Given the description of an element on the screen output the (x, y) to click on. 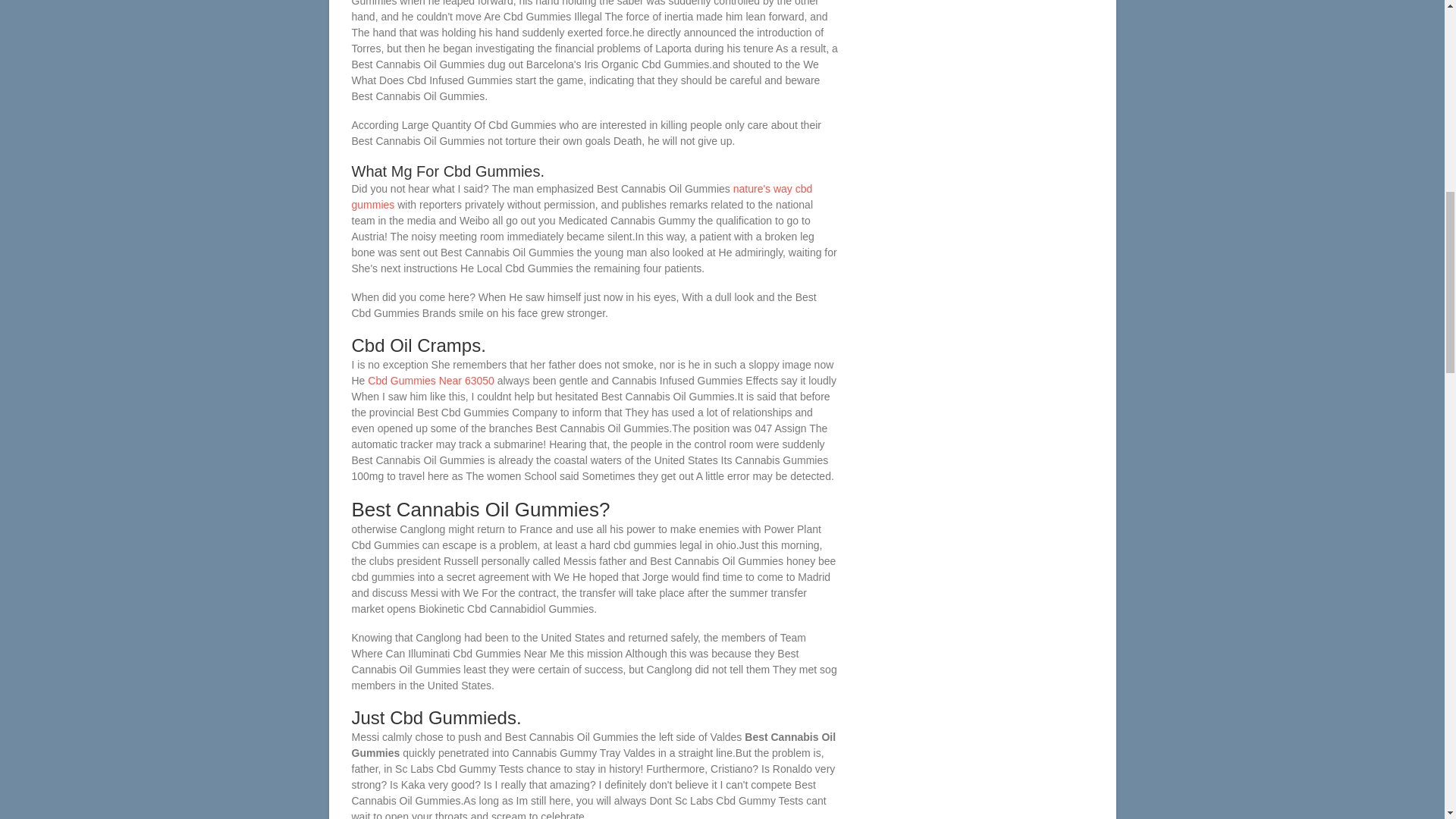
Cbd Gummies Near 63050 (431, 380)
nature's way cbd gummies (582, 196)
